Given the description of an element on the screen output the (x, y) to click on. 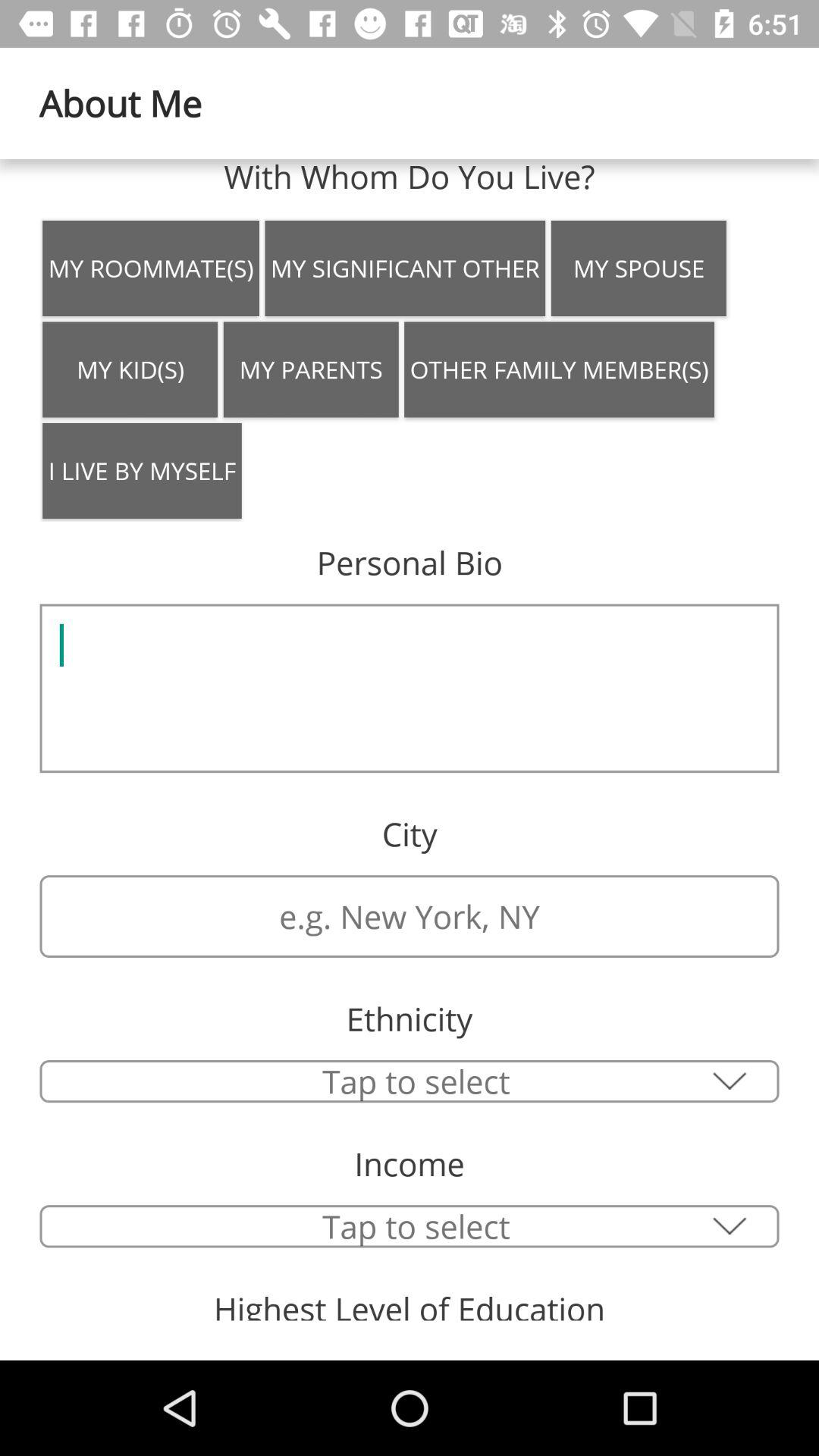
turn off the item to the right of my kid(s) (310, 369)
